Given the description of an element on the screen output the (x, y) to click on. 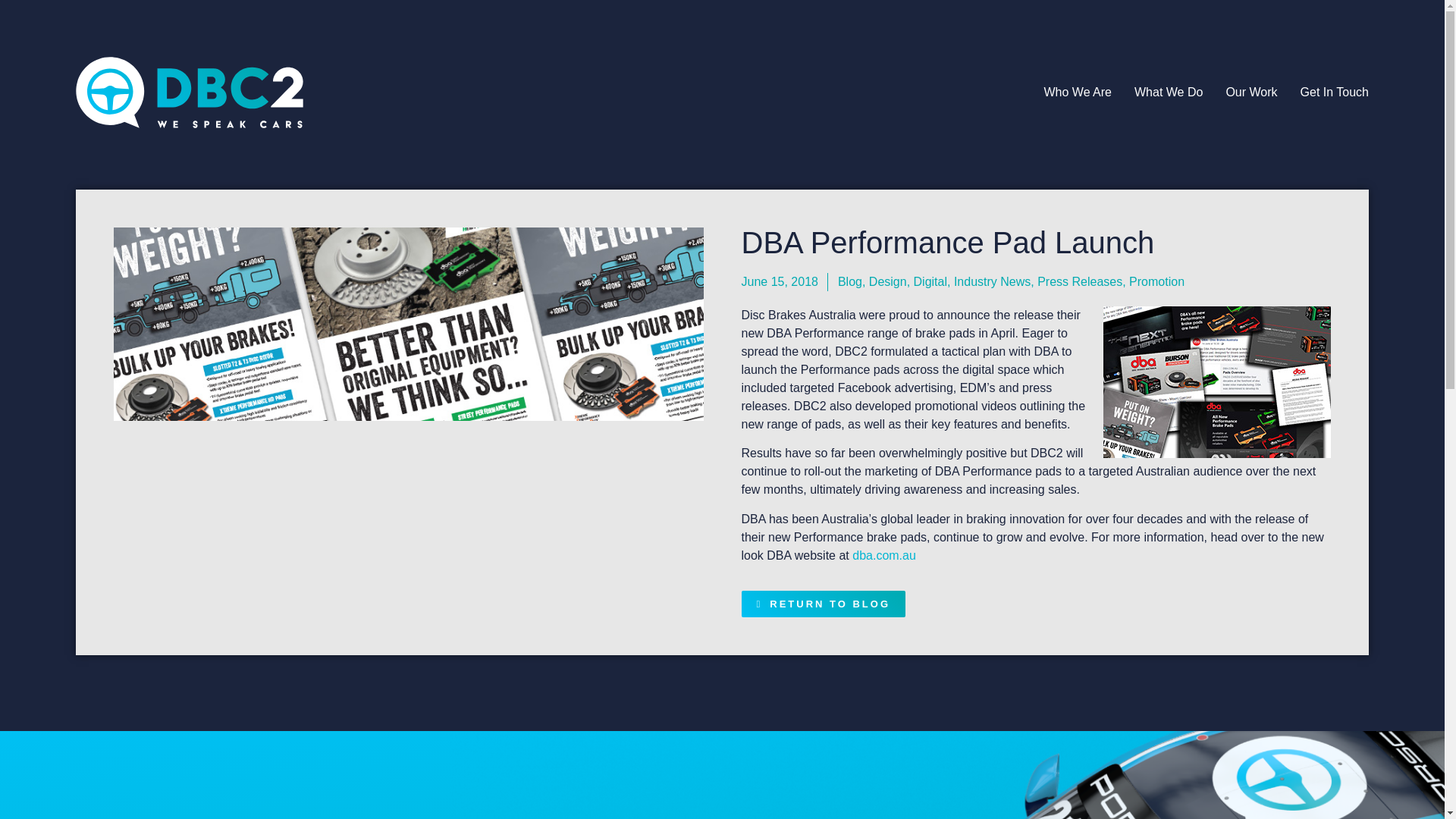
RETURN TO BLOG (823, 603)
Promotion (1157, 281)
Design (888, 281)
dba.com.au (883, 554)
Digital (930, 281)
Press Releases (1079, 281)
Our Work (1250, 92)
Industry News (991, 281)
Get In Touch (1334, 92)
Blog (849, 281)
